Given the description of an element on the screen output the (x, y) to click on. 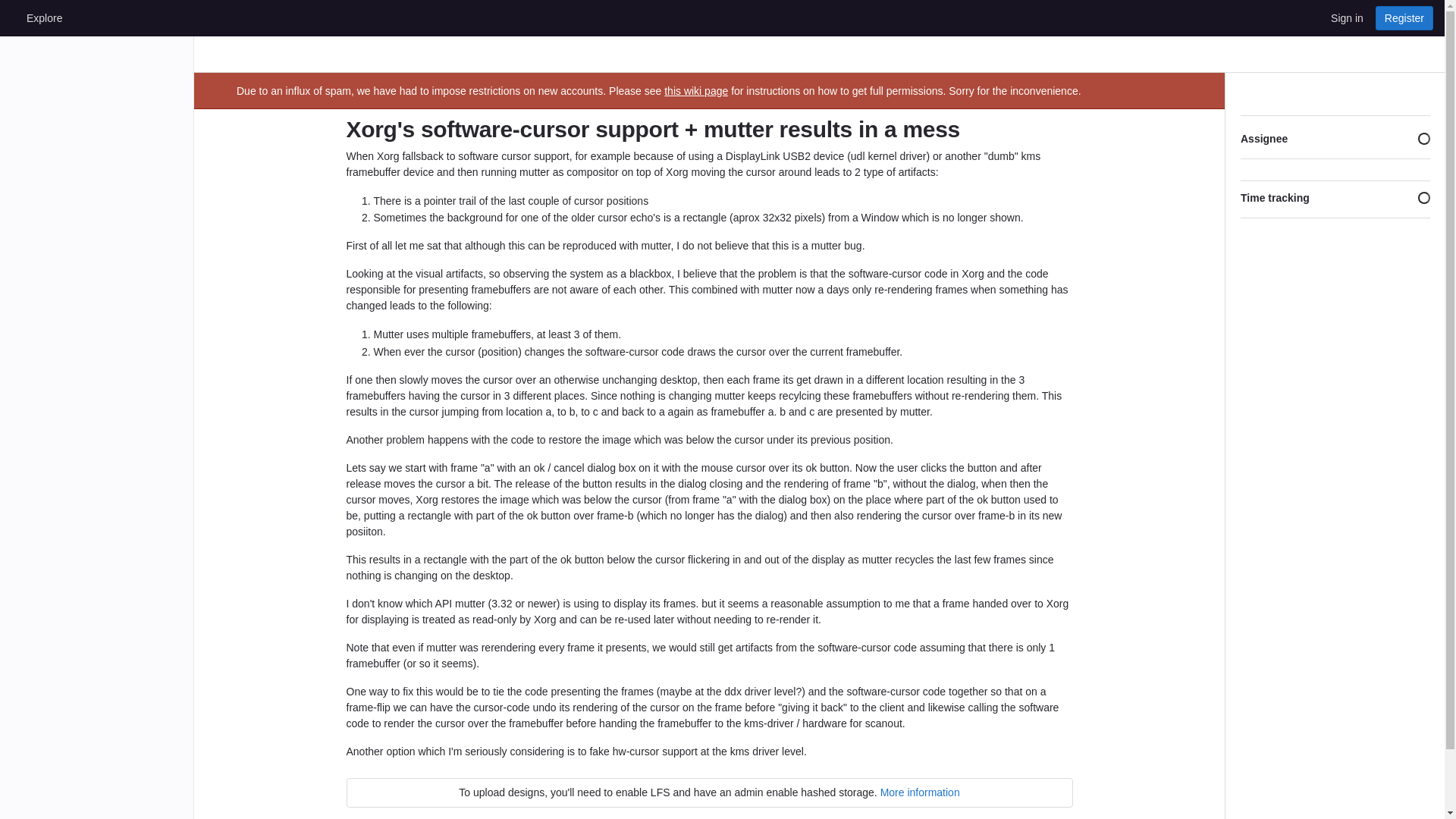
this wiki page (695, 91)
Explore (44, 17)
Collapse sidebar (1420, 94)
More information (919, 792)
Sign in (1347, 17)
Register (1403, 17)
